Given the description of an element on the screen output the (x, y) to click on. 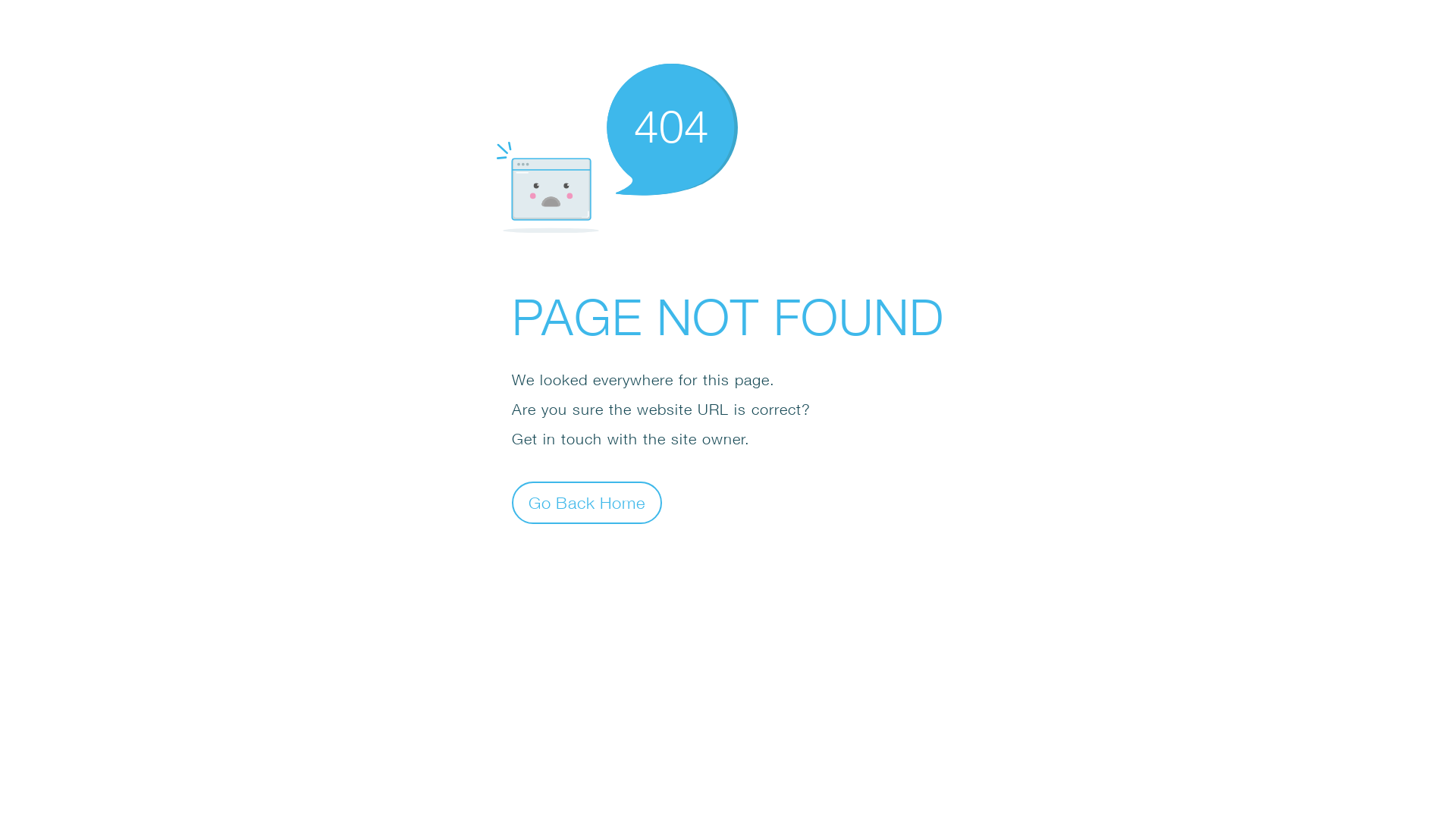
Go Back Home Element type: text (586, 502)
